Given the description of an element on the screen output the (x, y) to click on. 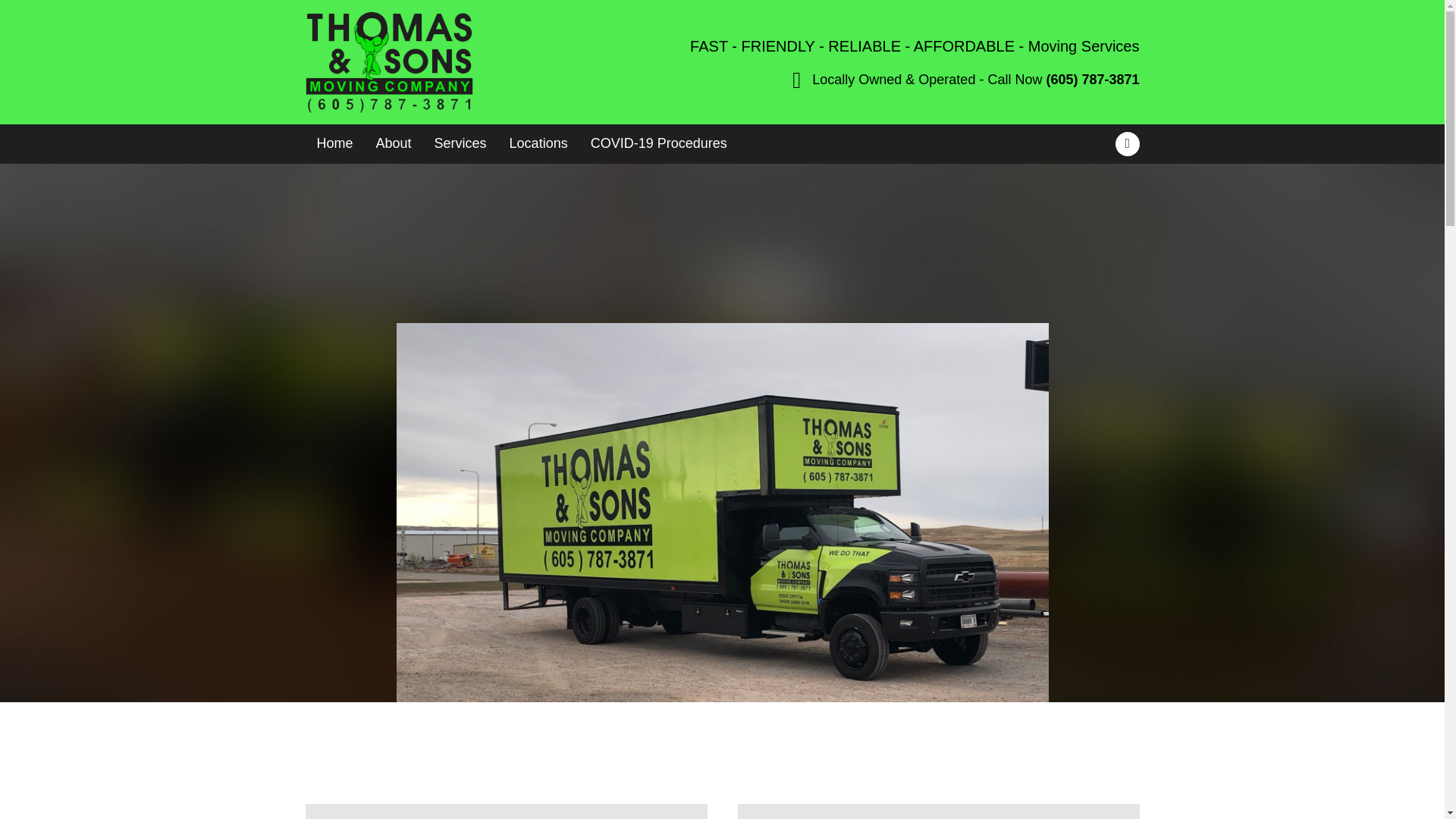
Home (334, 143)
COVID-19 Procedures (658, 143)
Locations (538, 143)
Services (460, 143)
About (394, 143)
